Given the description of an element on the screen output the (x, y) to click on. 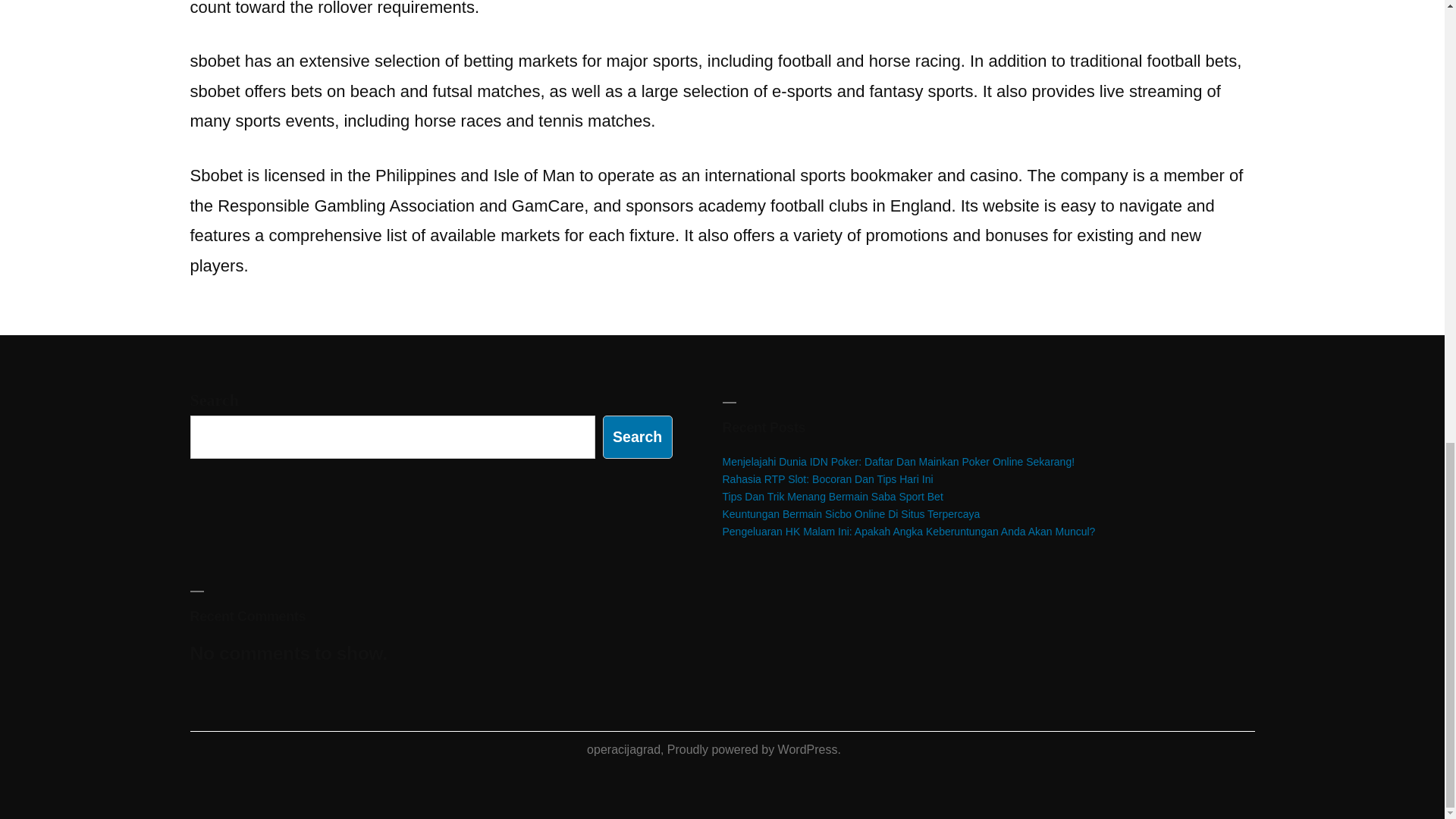
Keuntungan Bermain Sicbo Online Di Situs Terpercaya (850, 513)
Search (637, 436)
Rahasia RTP Slot: Bocoran Dan Tips Hari Ini (827, 479)
Tips Dan Trik Menang Bermain Saba Sport Bet (832, 496)
Proudly powered by WordPress. (753, 748)
operacijagrad (623, 748)
